Given the description of an element on the screen output the (x, y) to click on. 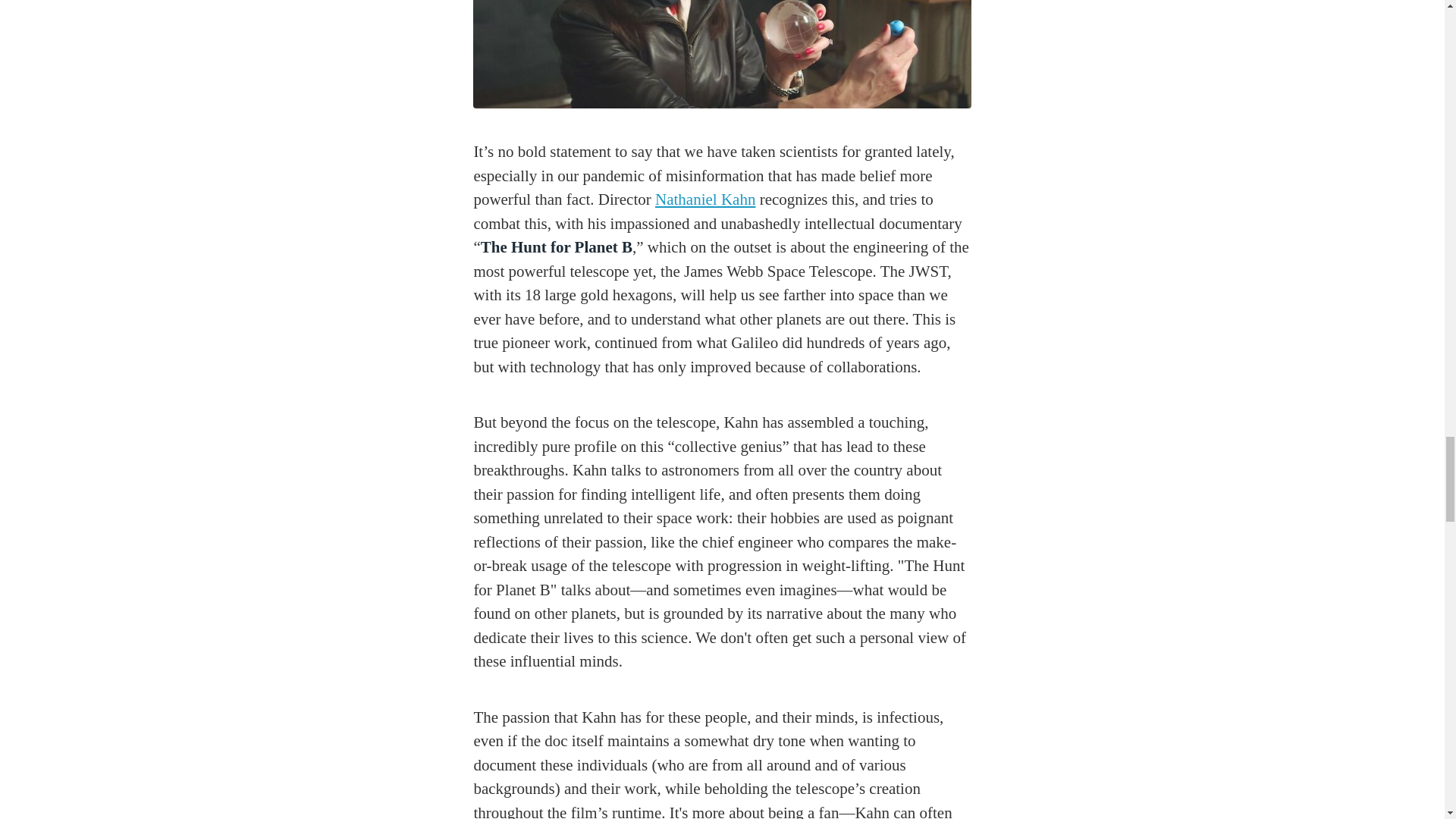
Nathaniel Kahn (705, 199)
